Given the description of an element on the screen output the (x, y) to click on. 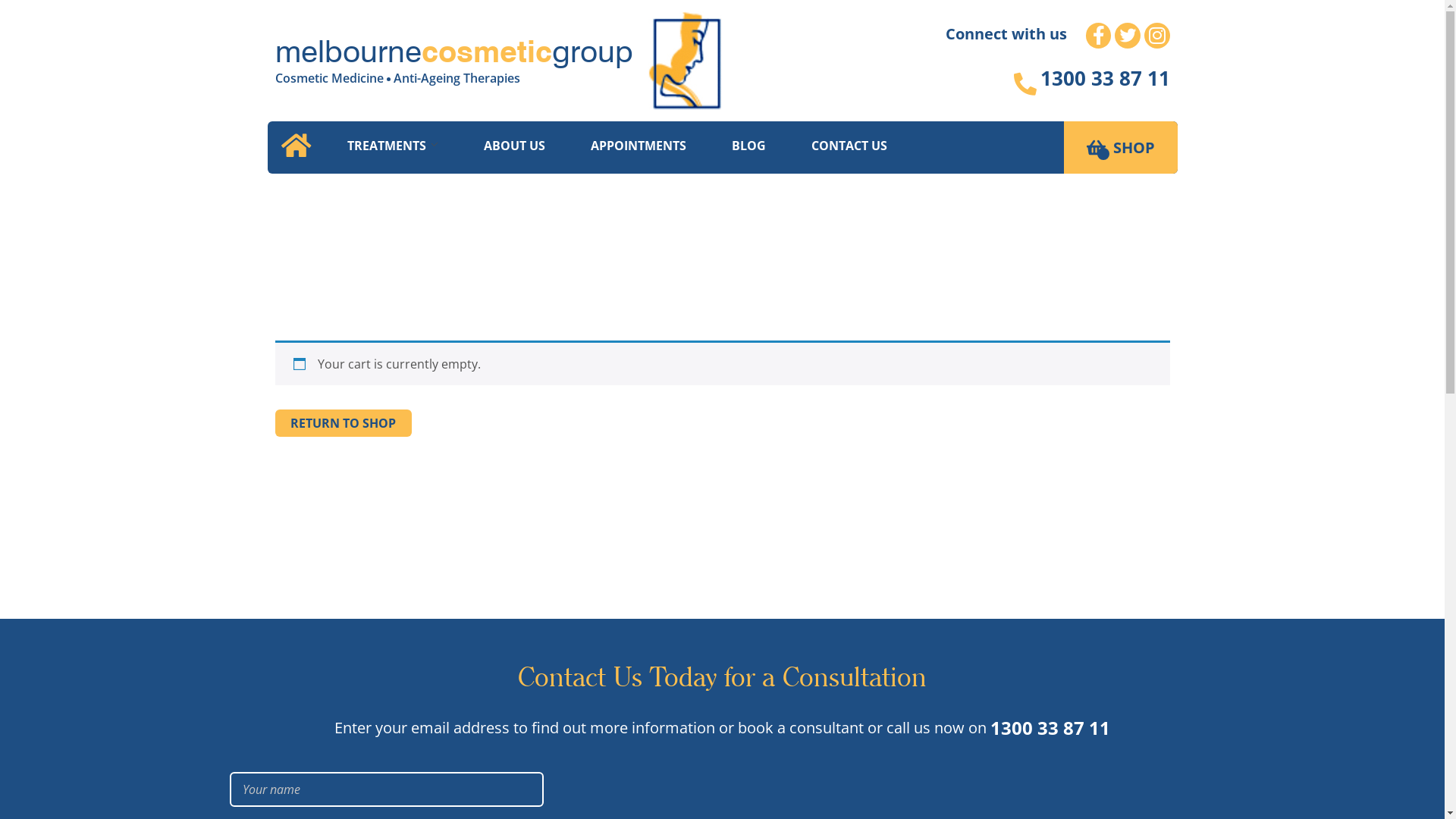
APPOINTMENTS Element type: text (637, 145)
CONTACT US Element type: text (849, 145)
BLOG Element type: text (747, 145)
RETURN TO SHOP Element type: text (342, 422)
ABOUT US Element type: text (514, 145)
TREATMENTS Element type: text (392, 145)
SHOP Element type: text (1133, 147)
